Given the description of an element on the screen output the (x, y) to click on. 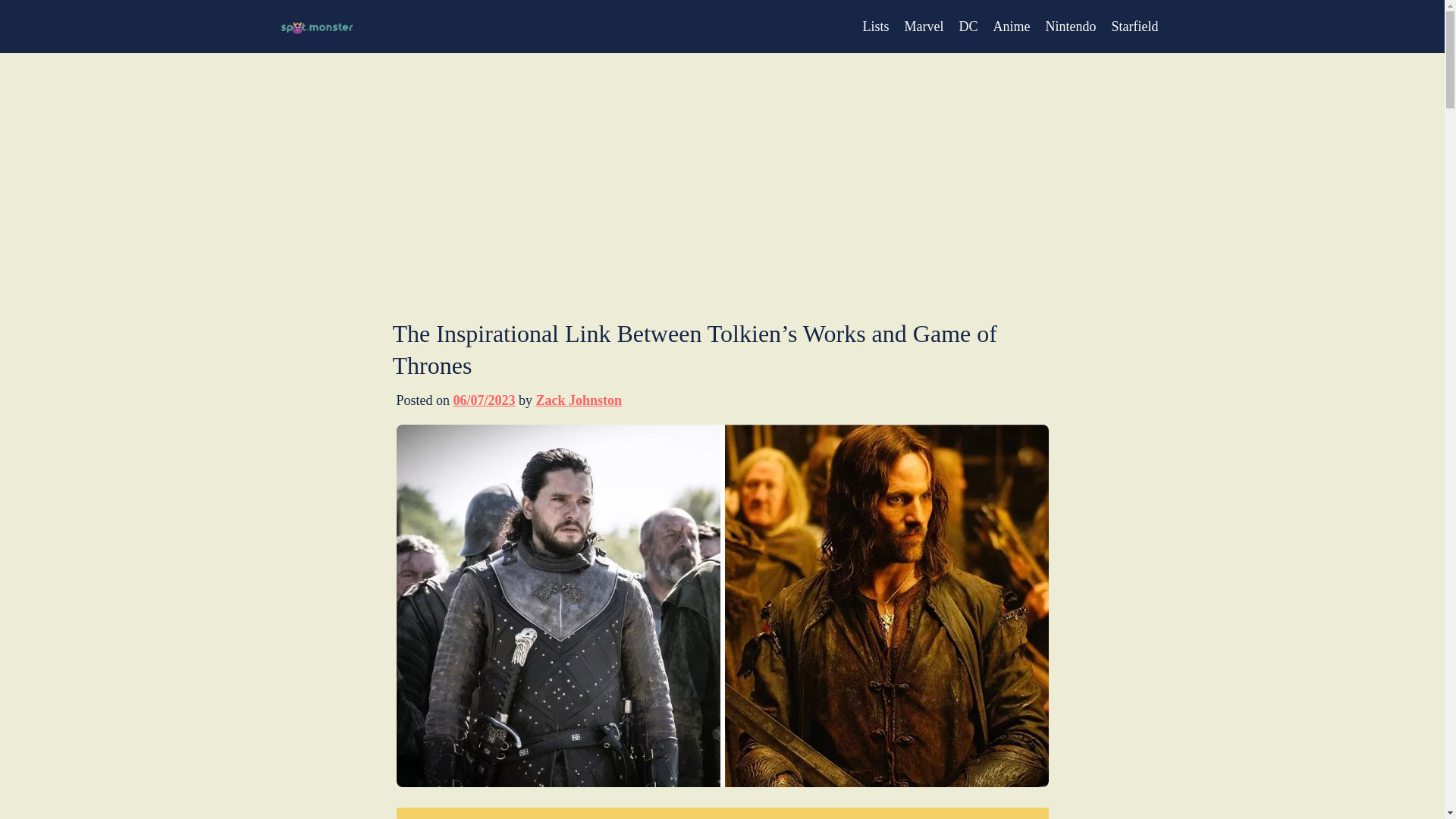
Starfield (1135, 26)
Marvel (923, 26)
Nintendo (1070, 26)
Zack Johnston (579, 400)
Lists (876, 26)
Anime (1011, 26)
